Given the description of an element on the screen output the (x, y) to click on. 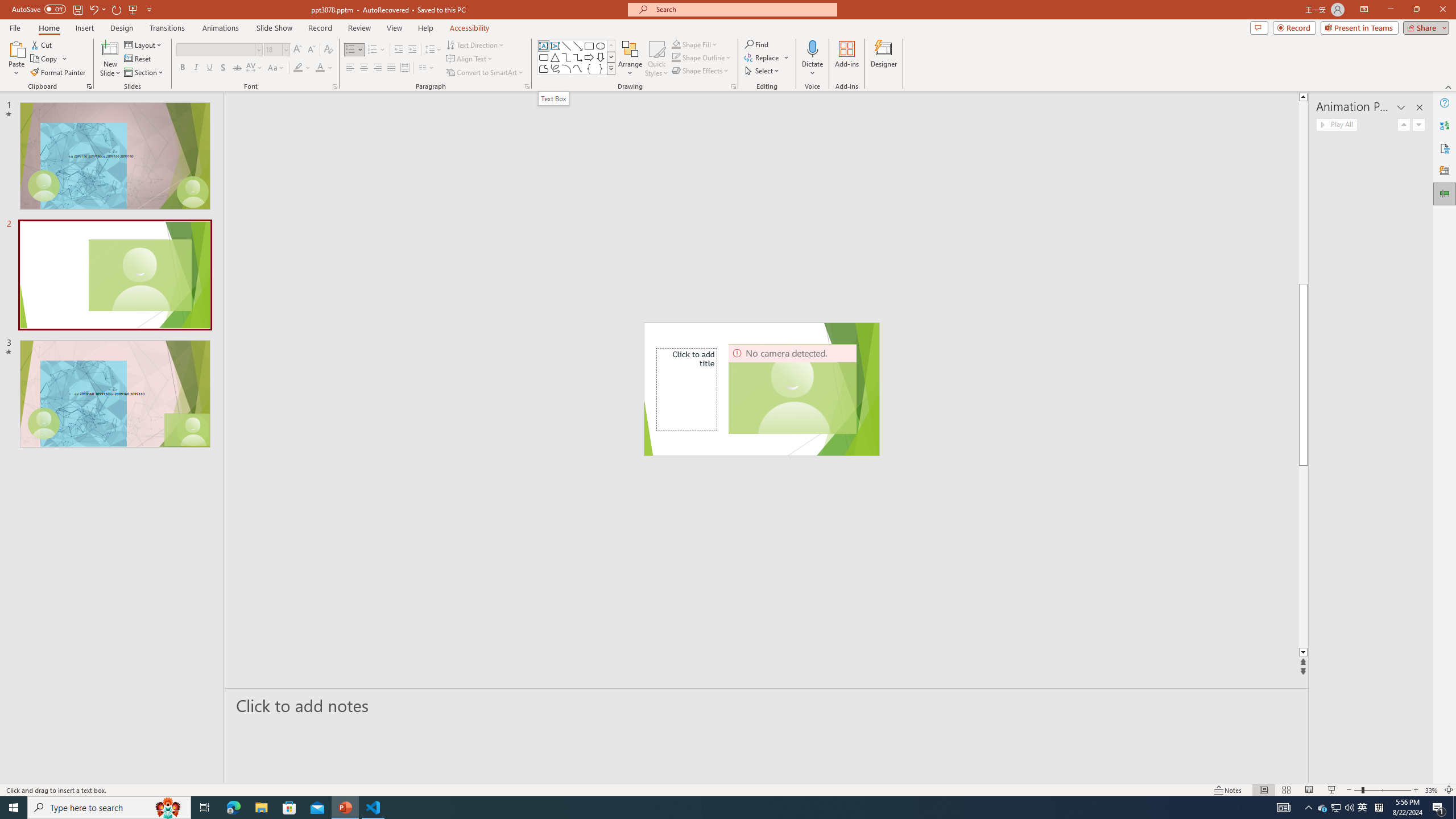
Shape Effects (700, 69)
